Given the description of an element on the screen output the (x, y) to click on. 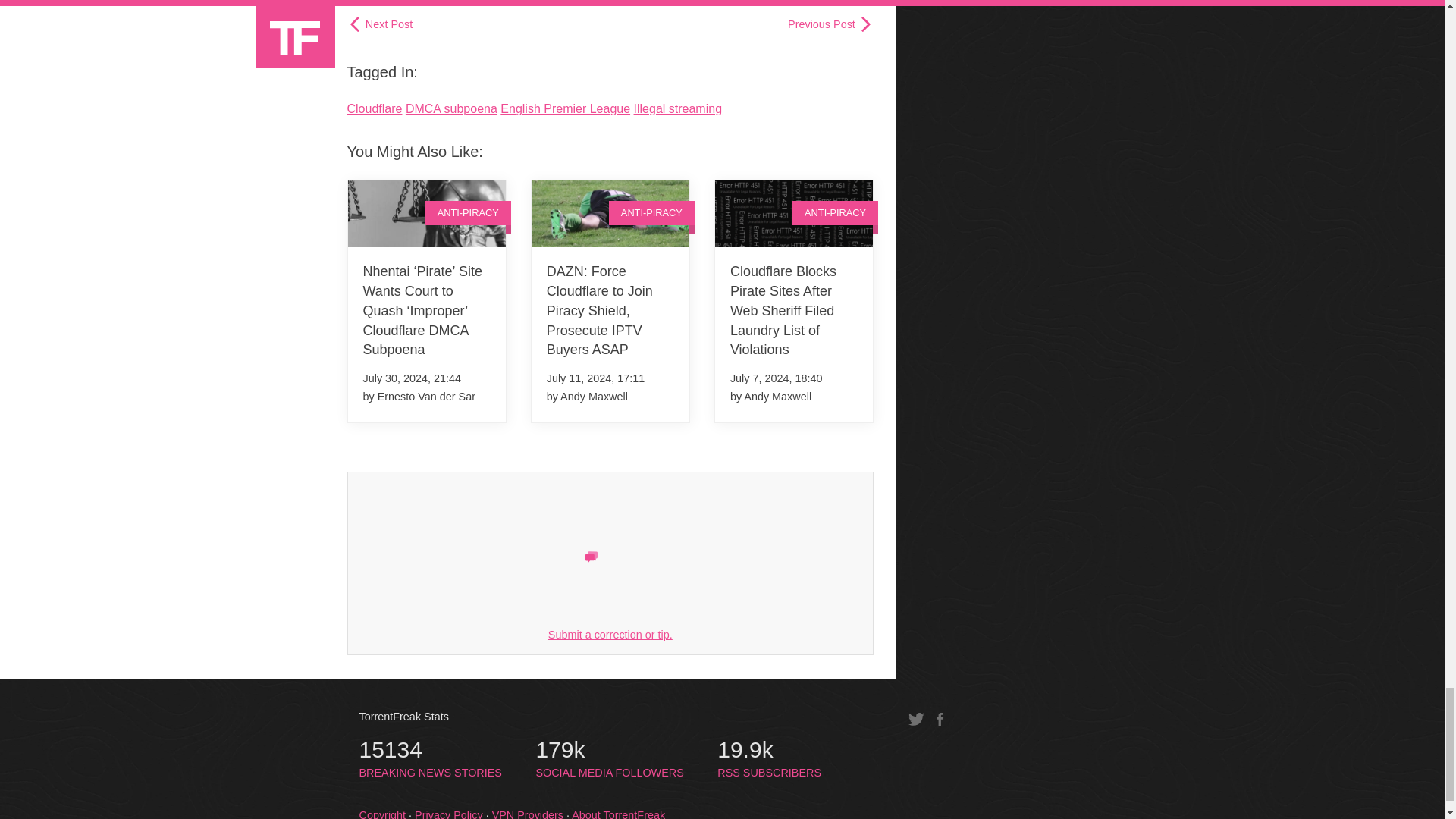
Previous Post (830, 23)
Submit a correction or tip. (610, 634)
English Premier League (565, 108)
Cloudflare (375, 108)
DMCA subpoena (451, 108)
Next Post (380, 23)
Illegal streaming (677, 108)
